Given the description of an element on the screen output the (x, y) to click on. 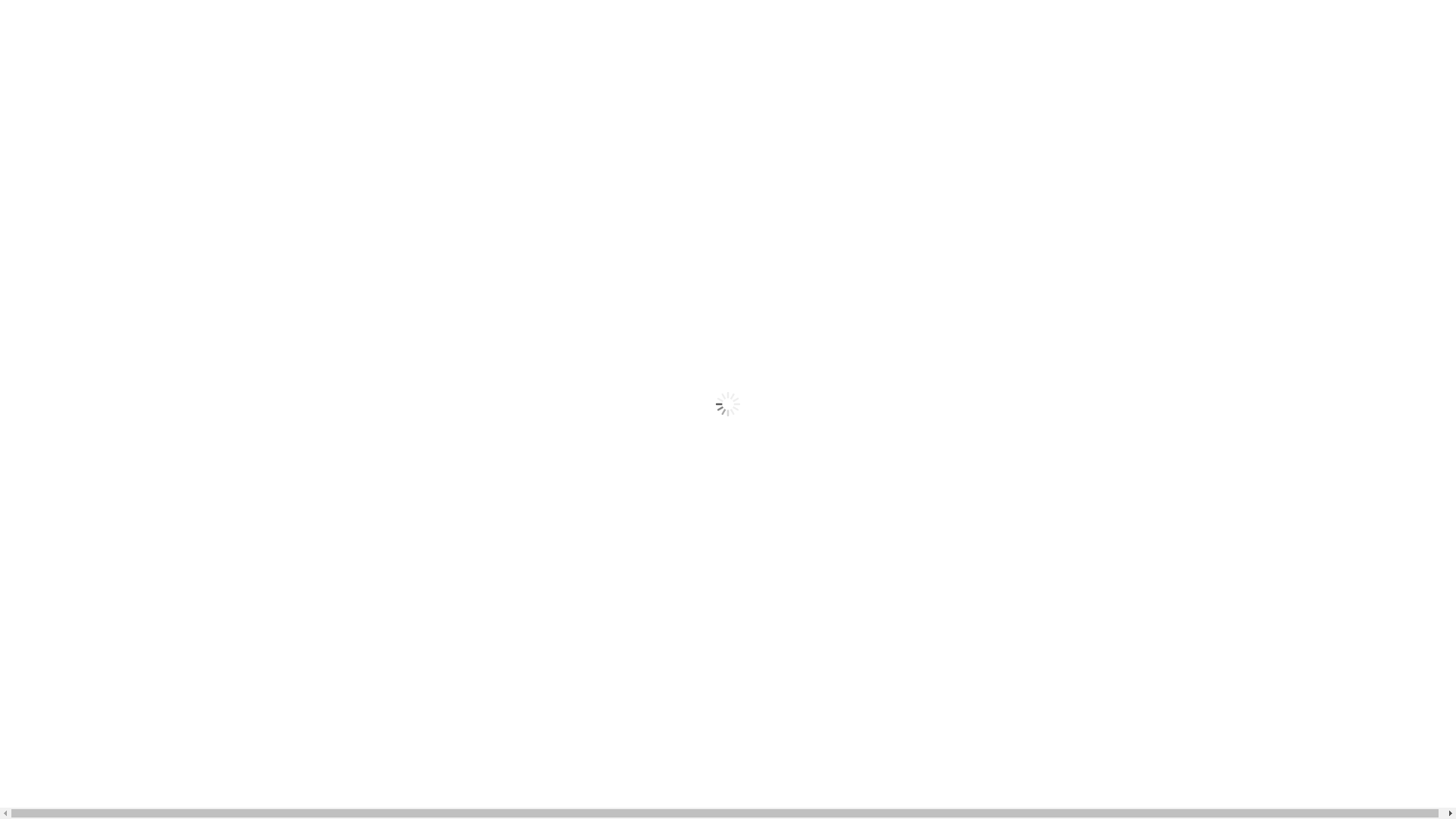
Search Engine Submission - AddMe Element type: text (94, 12)
